Given the description of an element on the screen output the (x, y) to click on. 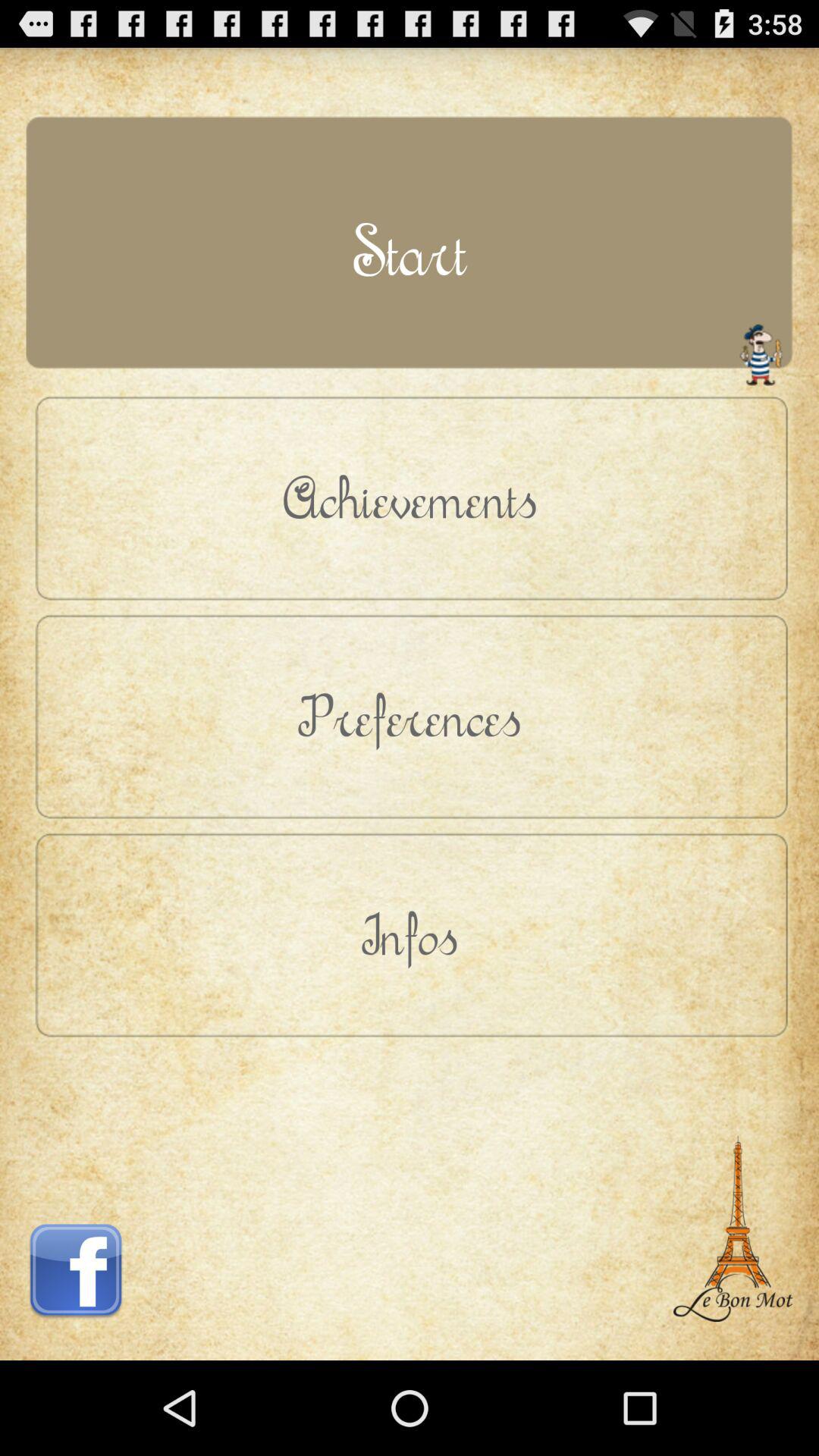
flip to achievements button (409, 497)
